Given the description of an element on the screen output the (x, y) to click on. 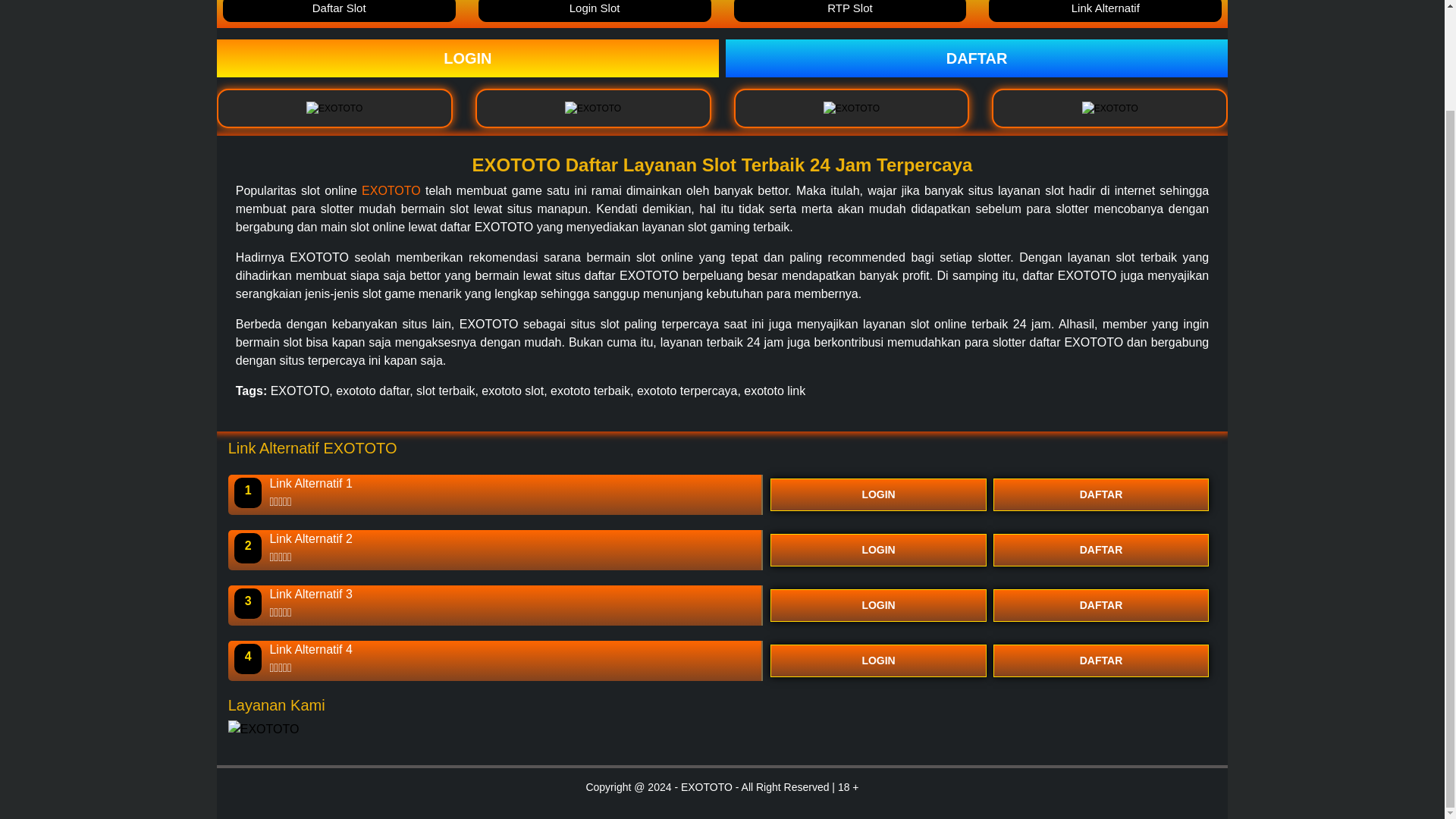
LOGIN (878, 494)
LOGIN (878, 549)
DAFTAR (976, 57)
DAFTAR (1100, 660)
LOGIN (467, 57)
EXOTOTO (467, 57)
LOGIN (878, 604)
DAFTAR (1100, 604)
EXOTOTO (976, 57)
EXOTOTO (390, 190)
DAFTAR (1100, 494)
DAFTAR (1100, 549)
LOGIN (878, 660)
